Given the description of an element on the screen output the (x, y) to click on. 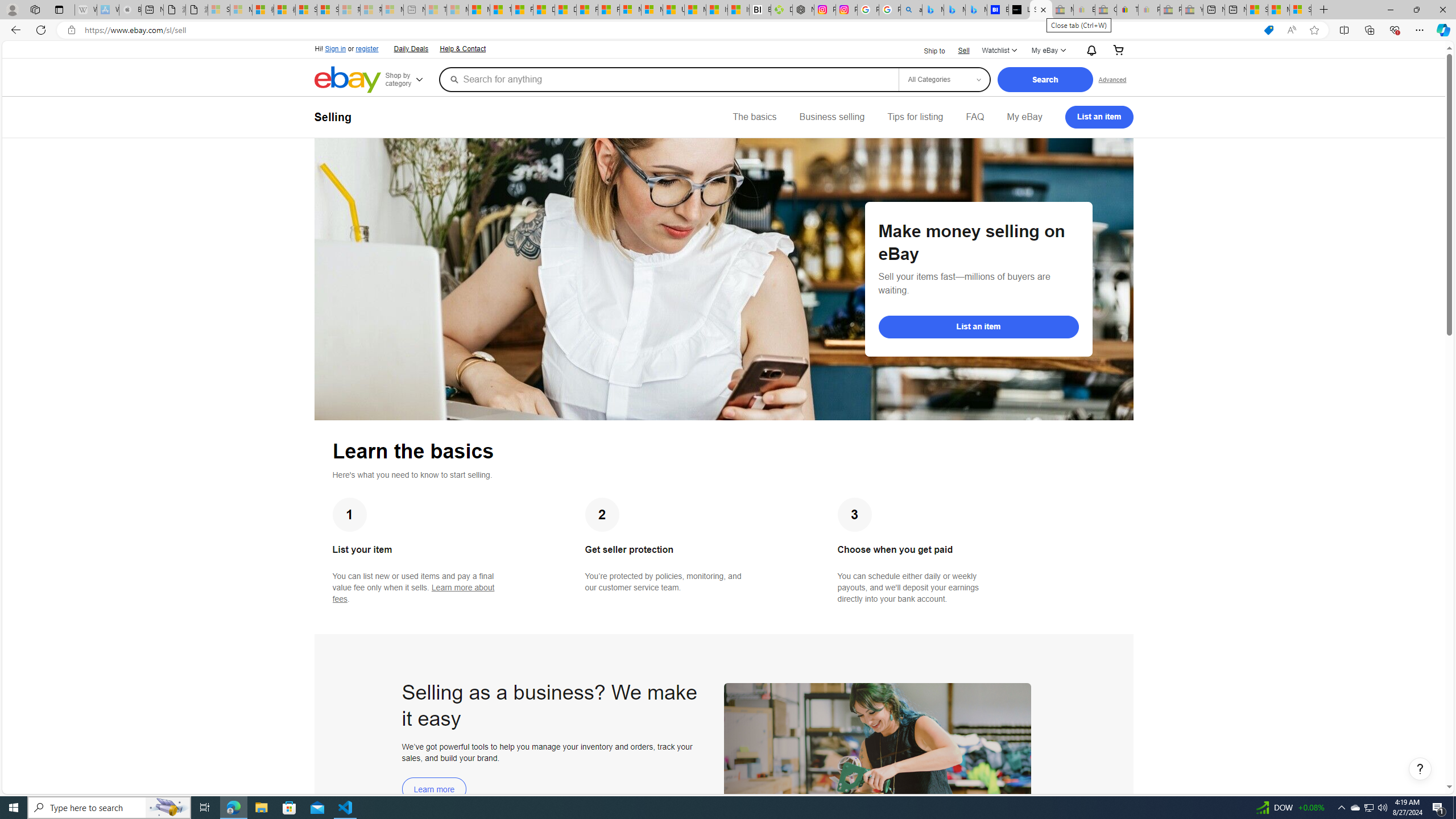
alabama high school quarterback dies - Search (911, 9)
Help & Contact (462, 49)
Your shopping cart (1118, 50)
Select a category for search (944, 78)
The basics (754, 116)
Watchlist (998, 50)
List an item (1099, 116)
